Given the description of an element on the screen output the (x, y) to click on. 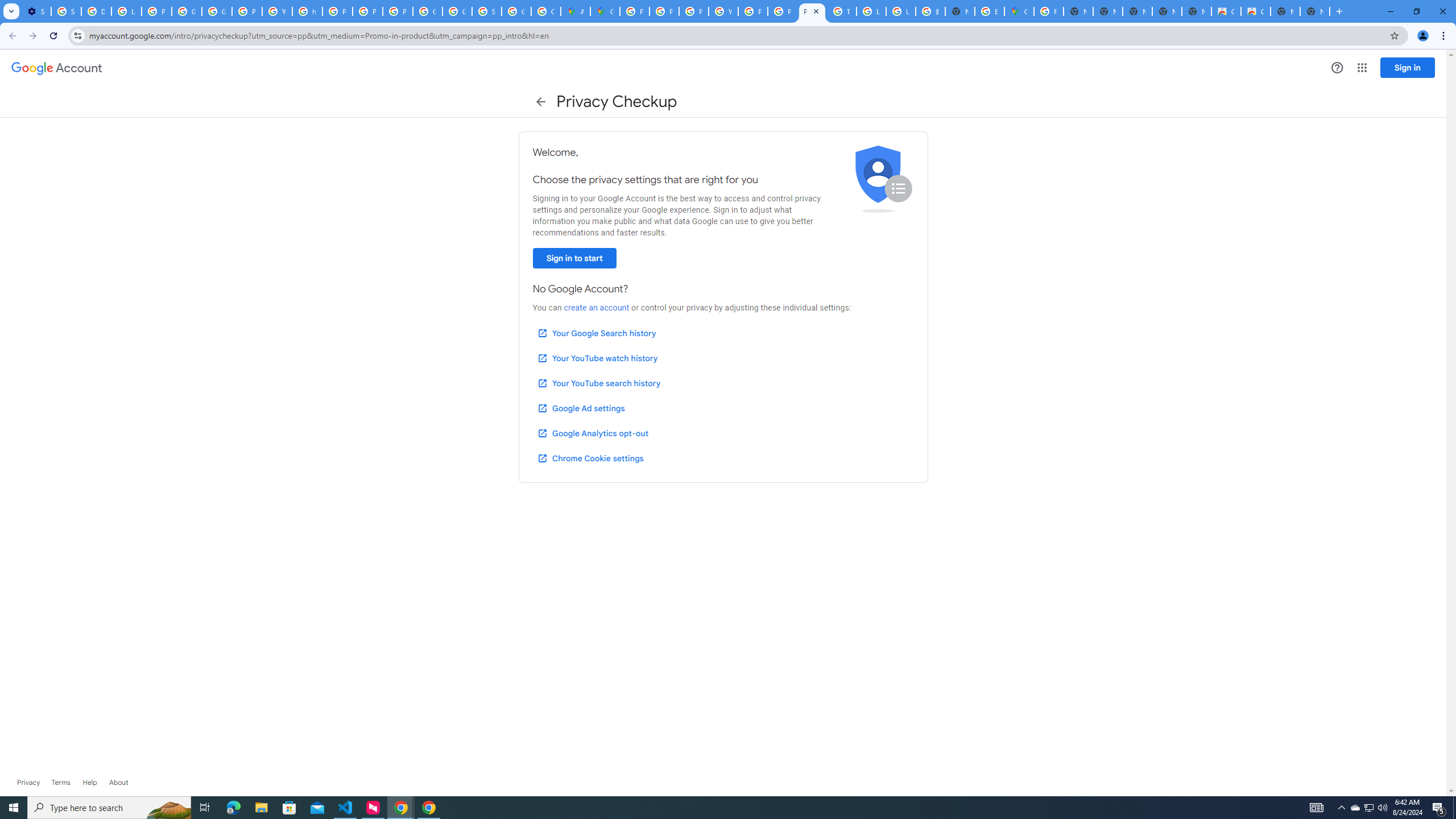
Policy Accountability and Transparency - Transparency Center (634, 11)
Privacy Help Center - Policies Help (664, 11)
Tips & tricks for Chrome - Google Chrome Help (841, 11)
Google Account settings (56, 68)
Your YouTube watch history (597, 358)
Sign in - Google Accounts (486, 11)
